Given the description of an element on the screen output the (x, y) to click on. 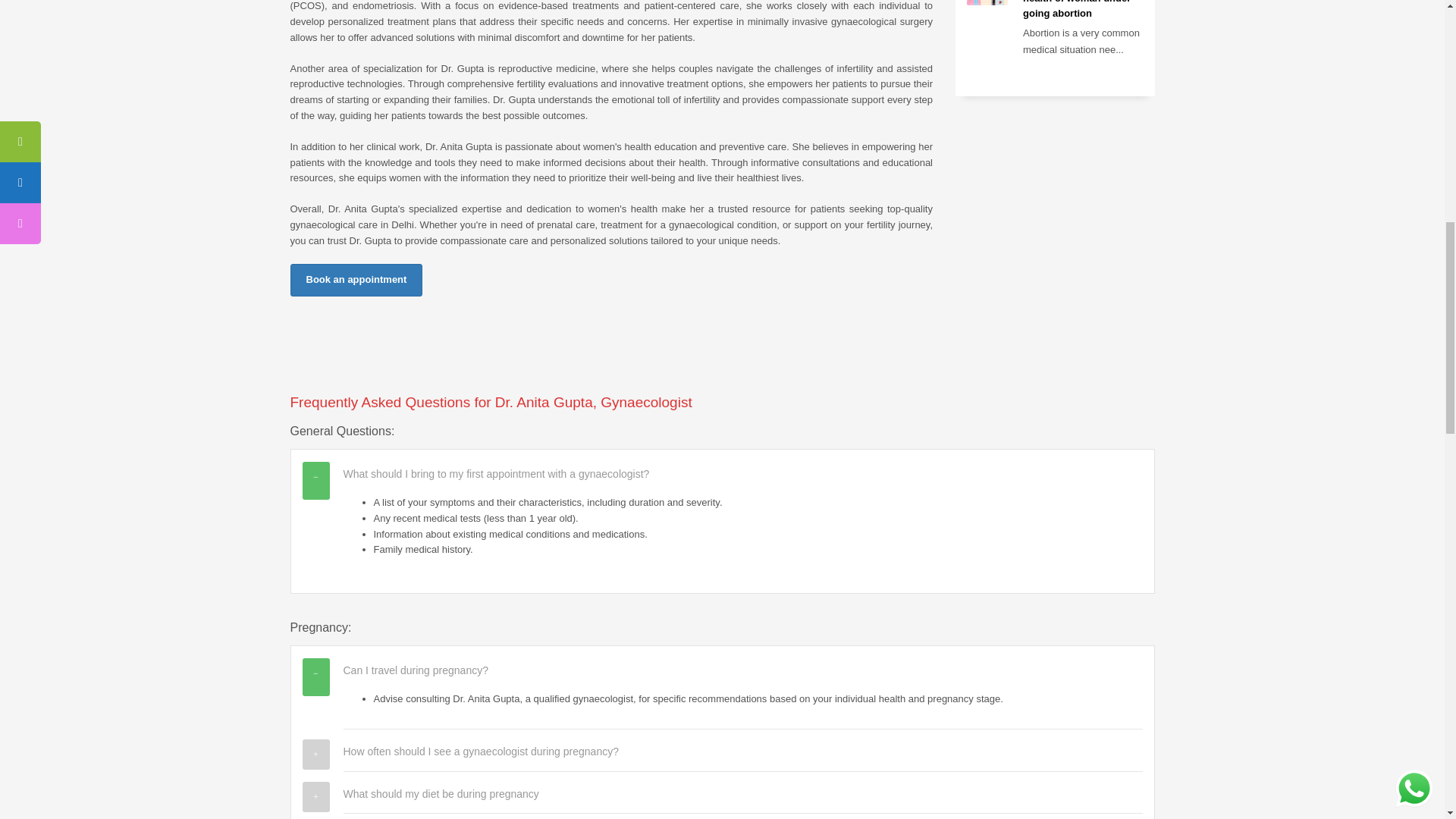
Book an appointment (355, 279)
